Given the description of an element on the screen output the (x, y) to click on. 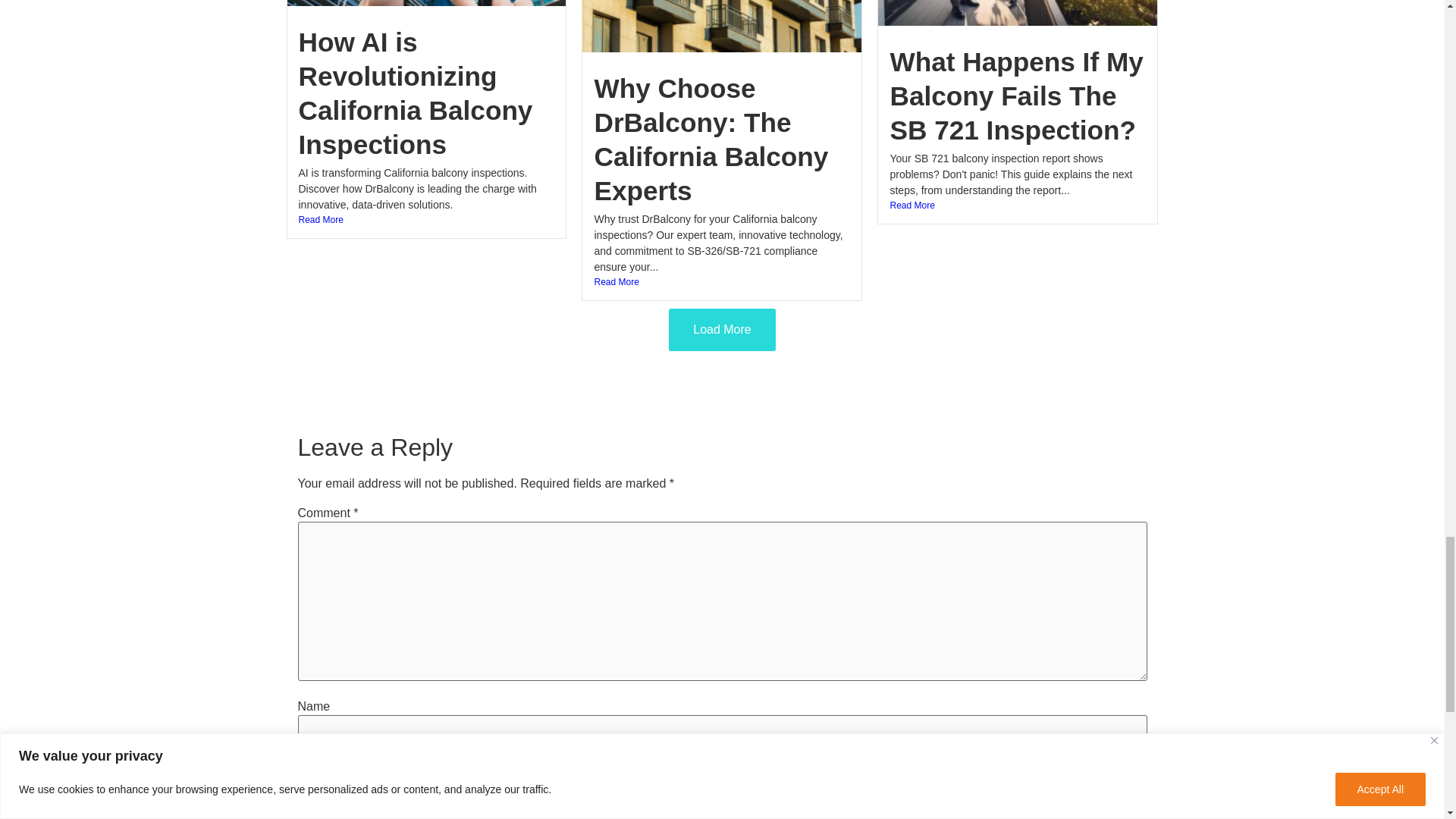
How AI is Revolutionizing California Balcony Inspections (415, 92)
How AI is Revolutionizing California Balcony Inspections (415, 92)
What Happens If My Balcony Fails The SB 721 Inspection? (1015, 95)
Why Choose DrBalcony: The California Balcony Experts (711, 139)
